Given the description of an element on the screen output the (x, y) to click on. 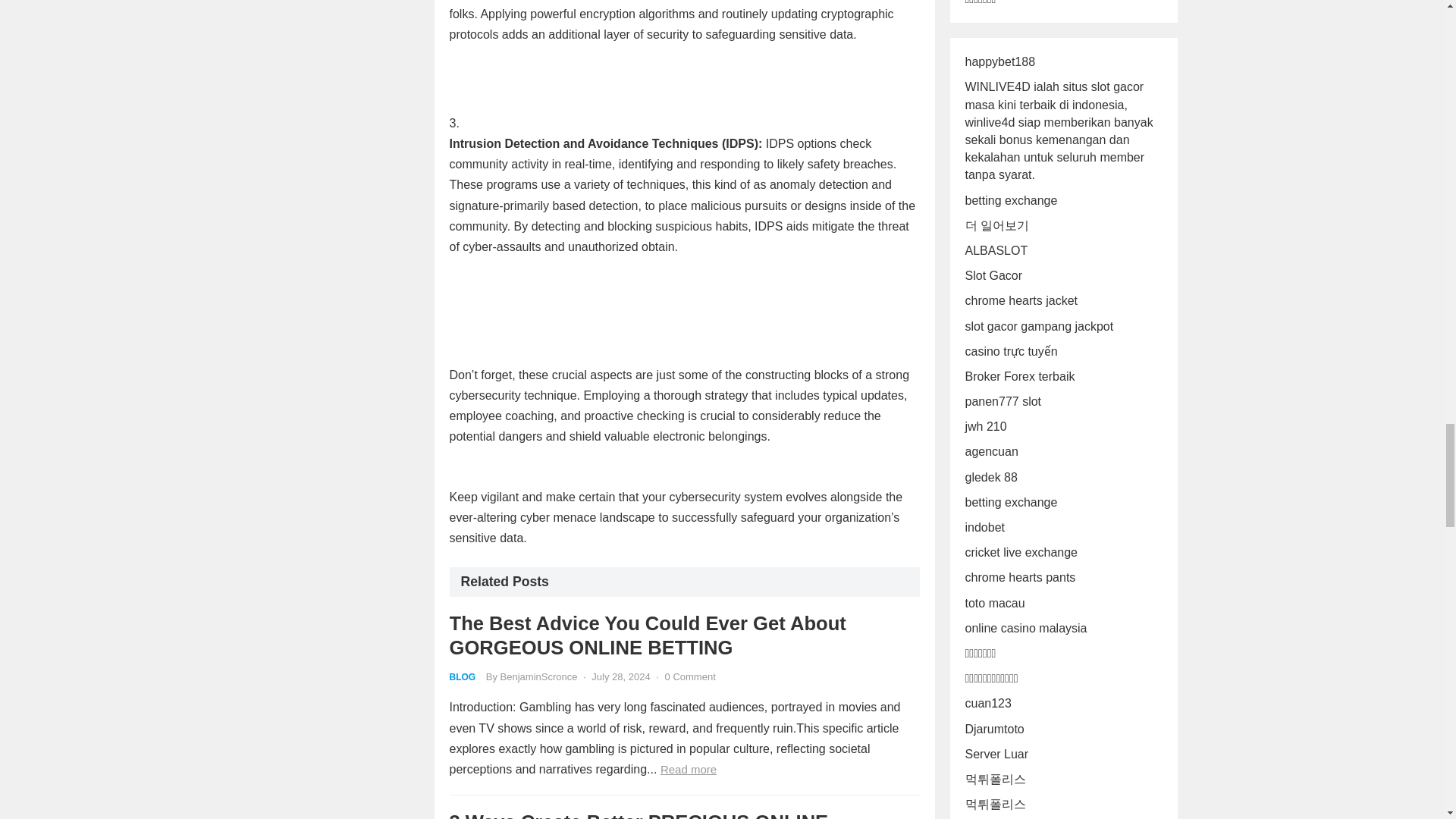
Posts by BenjaminScronce (539, 676)
Read more (688, 768)
0 Comment (690, 676)
BenjaminScronce (539, 676)
BLOG (462, 676)
